Given the description of an element on the screen output the (x, y) to click on. 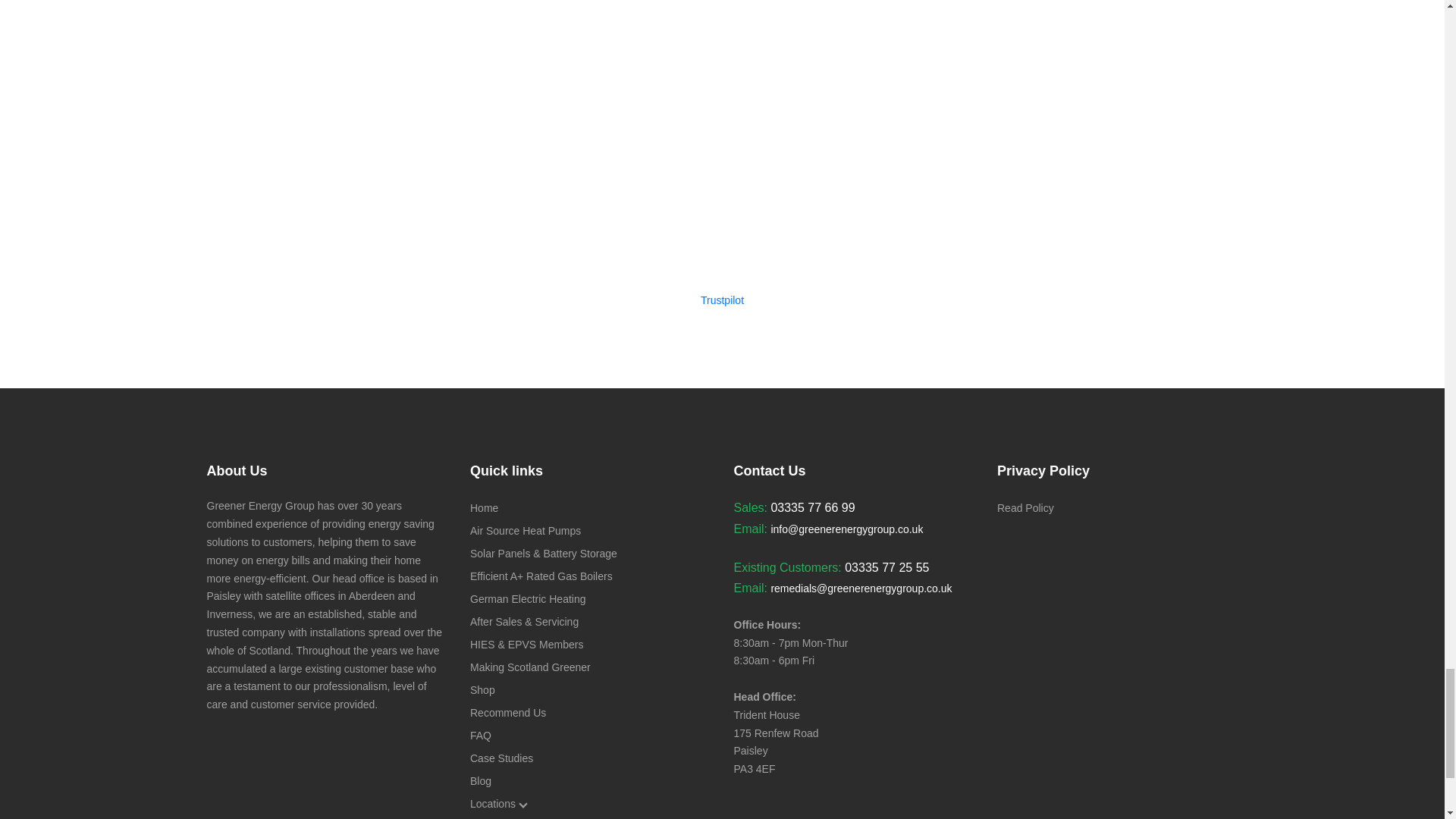
Air Source Heat Pumps (525, 530)
Home (483, 508)
German Electric Heating (528, 598)
Trustpilot (722, 300)
